Given the description of an element on the screen output the (x, y) to click on. 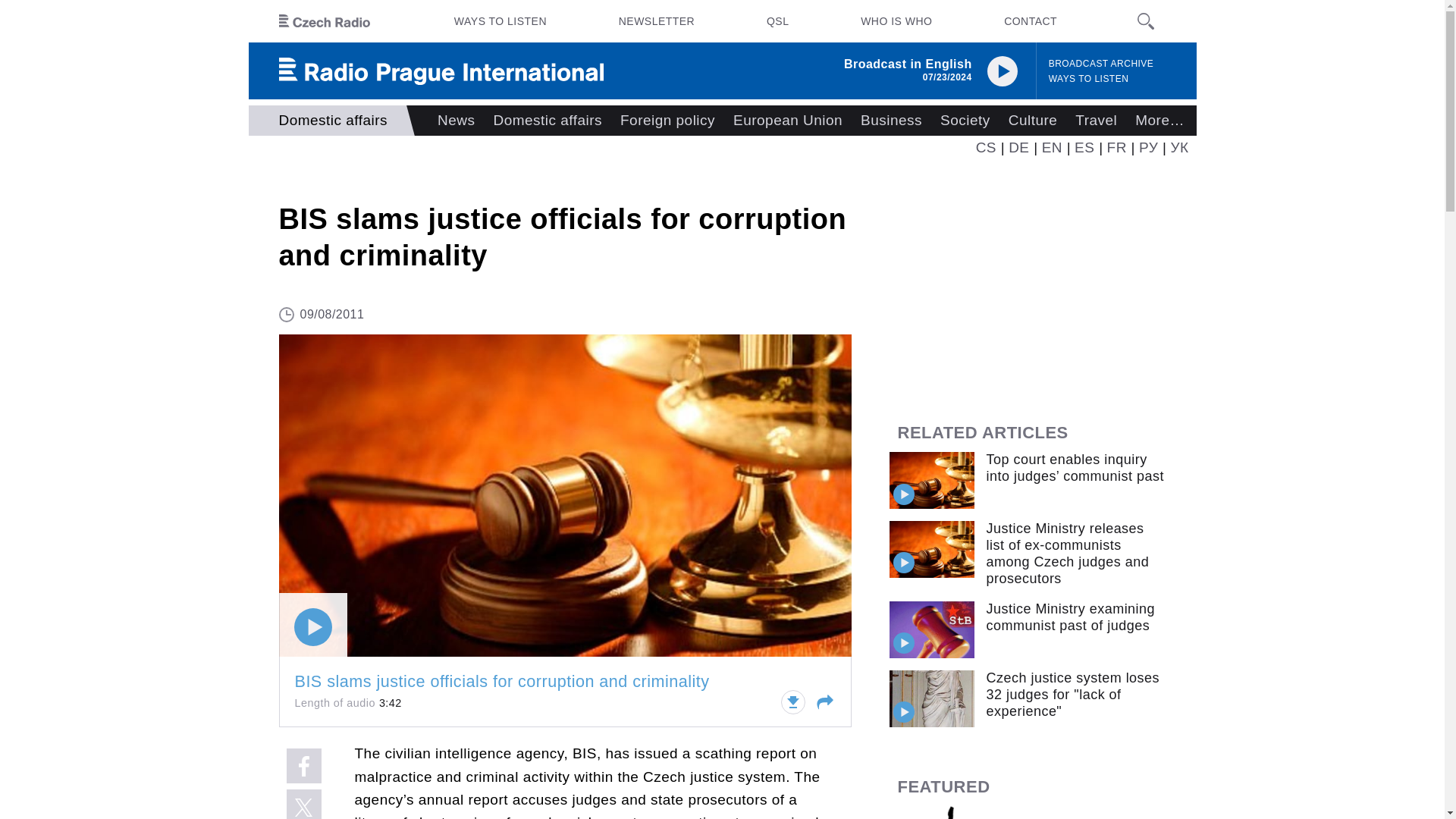
CS (985, 147)
FR (1116, 147)
DE (1019, 147)
Czech Radio (324, 21)
Culture (1032, 120)
Domestic affairs (547, 120)
European Union (787, 120)
Travel (1095, 120)
ES (1084, 147)
WAYS TO LISTEN (1088, 78)
NEWSLETTER (656, 21)
Broadcast in English  (908, 63)
News (455, 120)
WHO IS WHO (896, 21)
EN (1052, 147)
